Given the description of an element on the screen output the (x, y) to click on. 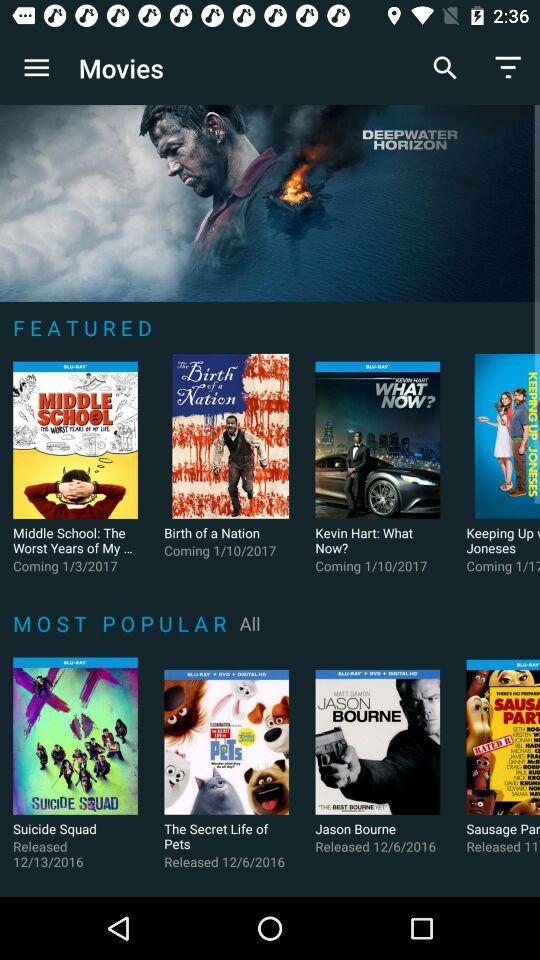
select the f e a (85, 327)
